Given the description of an element on the screen output the (x, y) to click on. 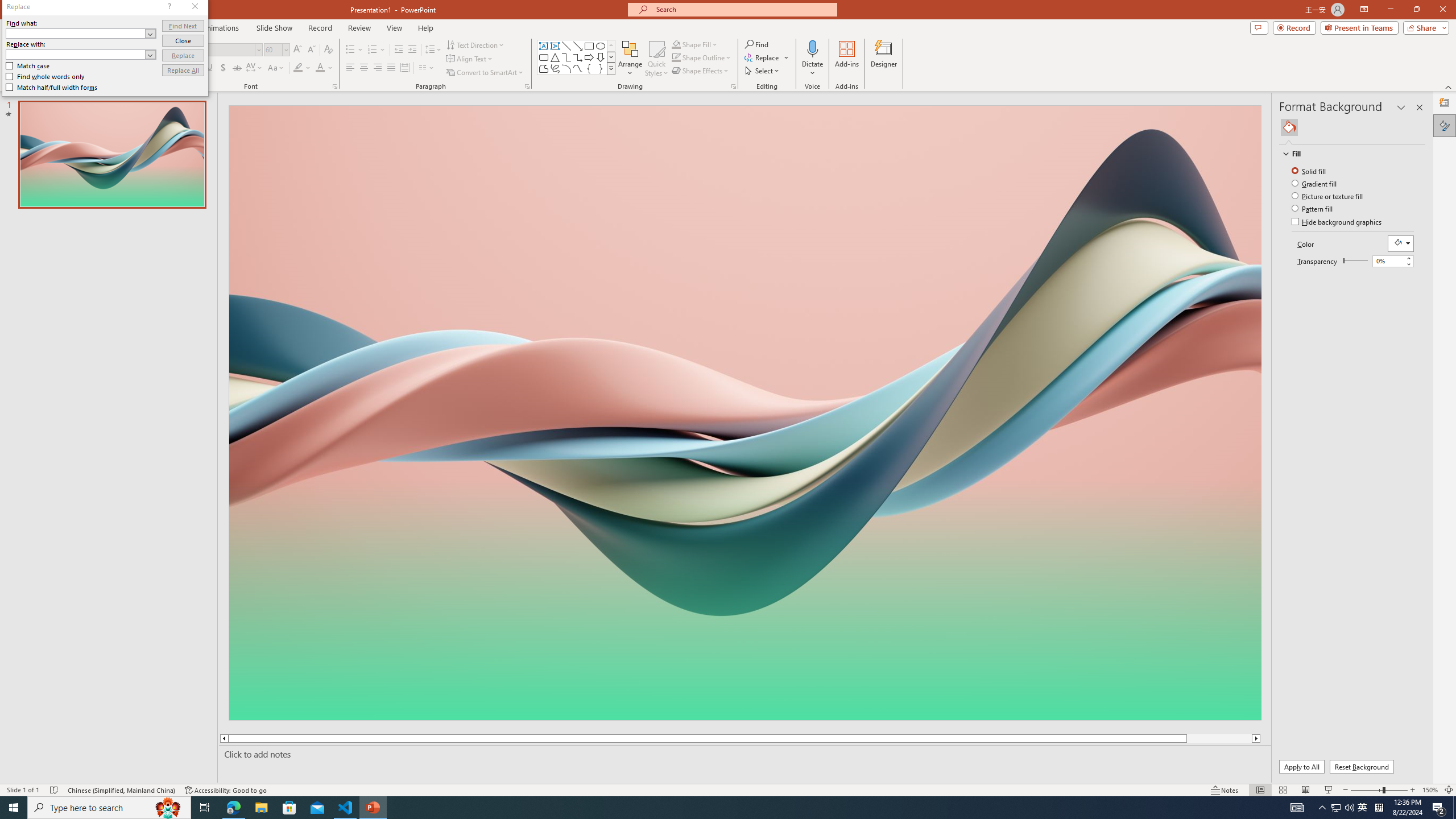
Find what (80, 33)
Reset Background (1361, 766)
Transparency (1393, 260)
